Given the description of an element on the screen output the (x, y) to click on. 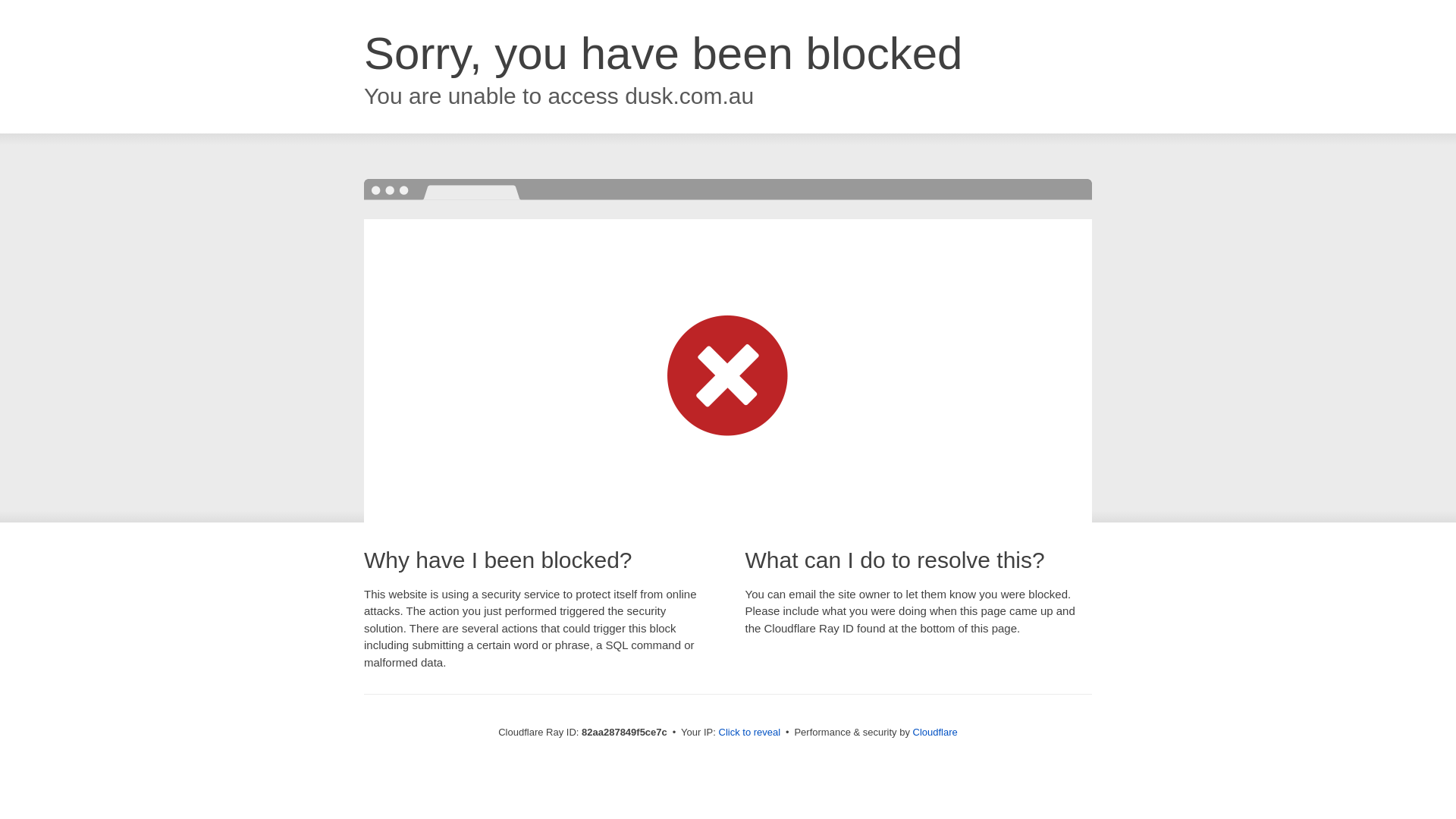
Click to reveal Element type: text (749, 732)
Cloudflare Element type: text (935, 731)
